Given the description of an element on the screen output the (x, y) to click on. 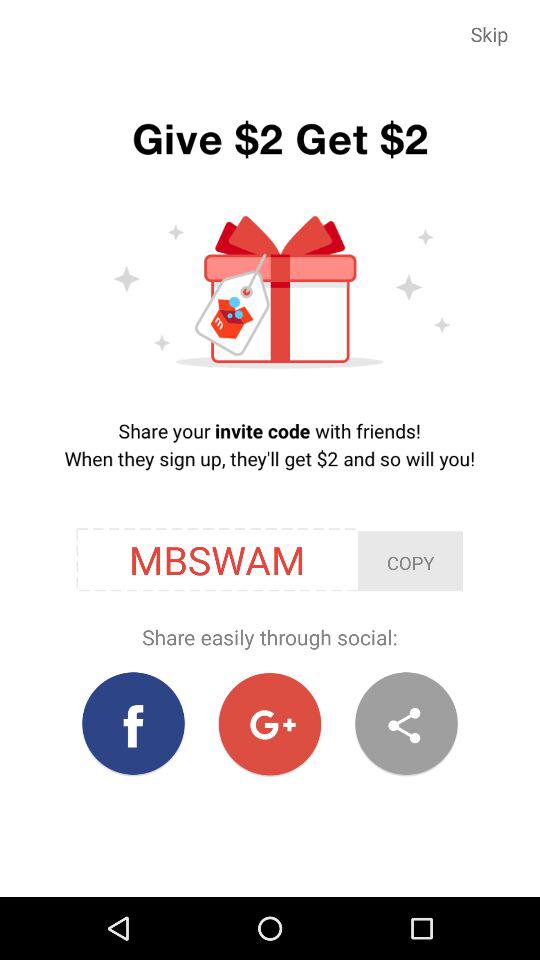
share through facebook (133, 724)
